Given the description of an element on the screen output the (x, y) to click on. 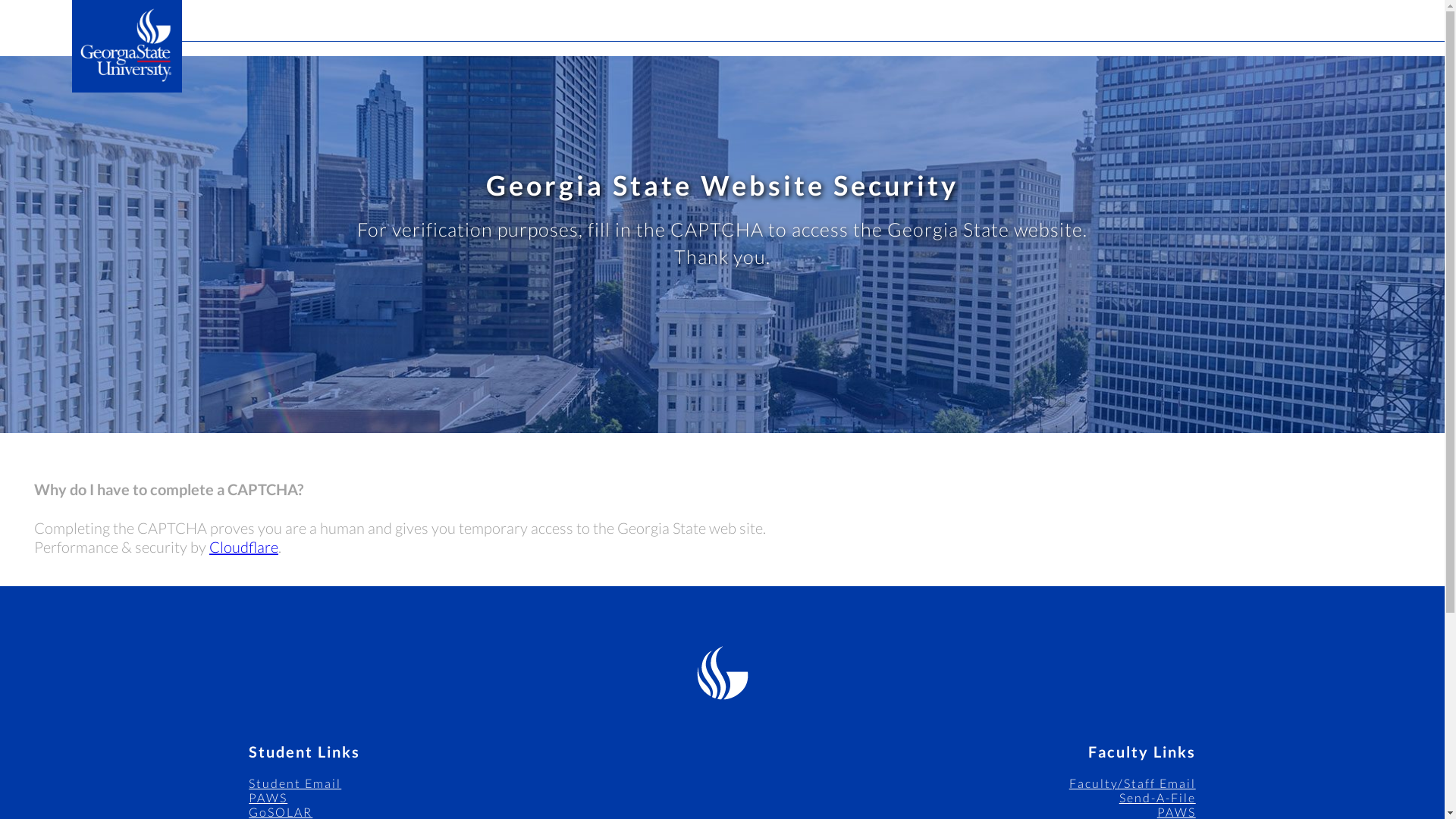
Cloudflare (243, 546)
GoSOLAR (280, 811)
Send-A-File (1157, 797)
PAWS (267, 797)
Student Email (294, 782)
PAWS (1176, 811)
